Given the description of an element on the screen output the (x, y) to click on. 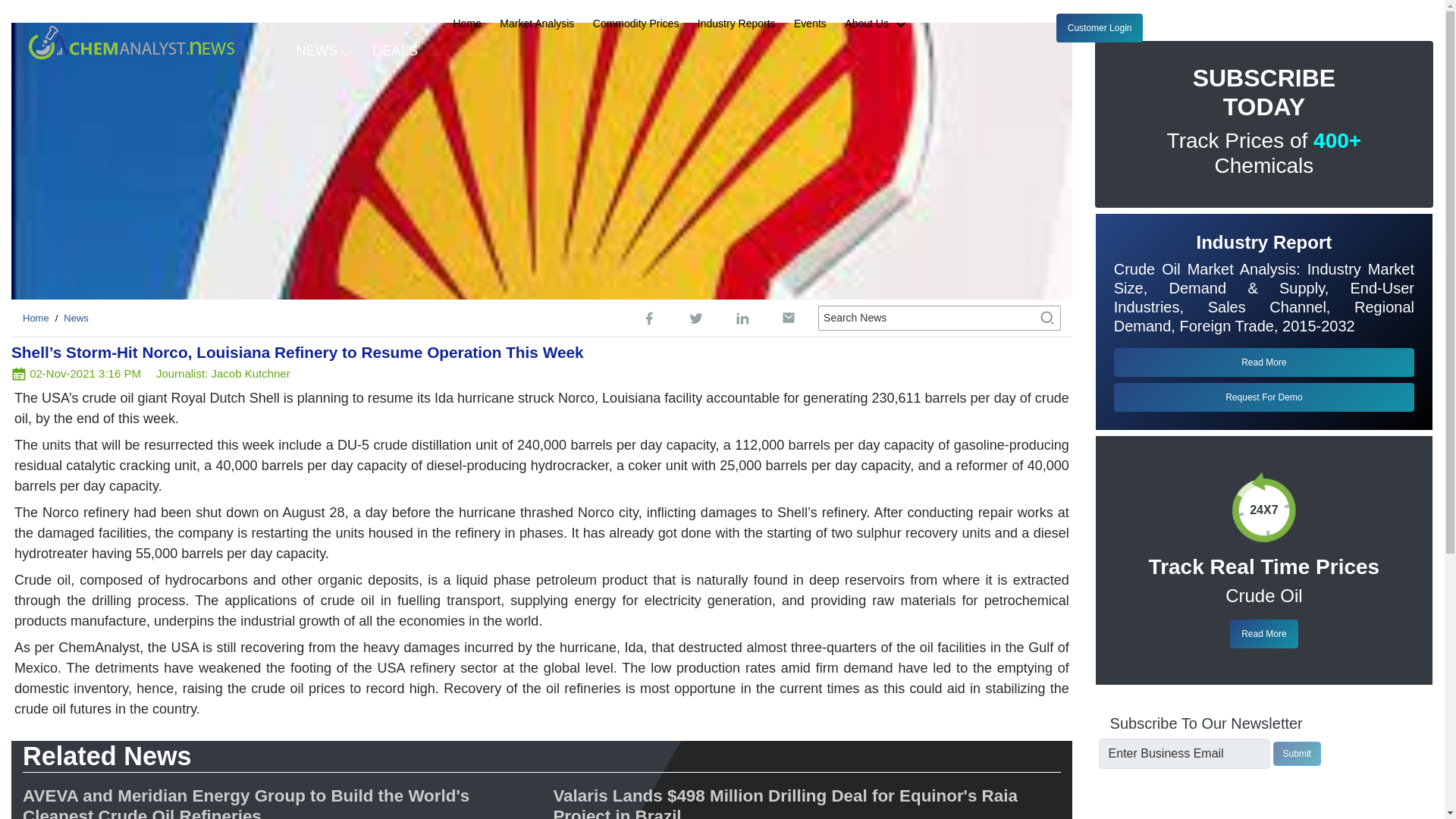
Industry Reports (736, 23)
Events (810, 23)
About Us (880, 24)
Commodity Prices (636, 23)
DEALS (395, 49)
Submit (1296, 753)
Market Analysis (536, 23)
Customer Login (1099, 27)
NEWS (322, 49)
Home (467, 23)
Home (36, 317)
